Given the description of an element on the screen output the (x, y) to click on. 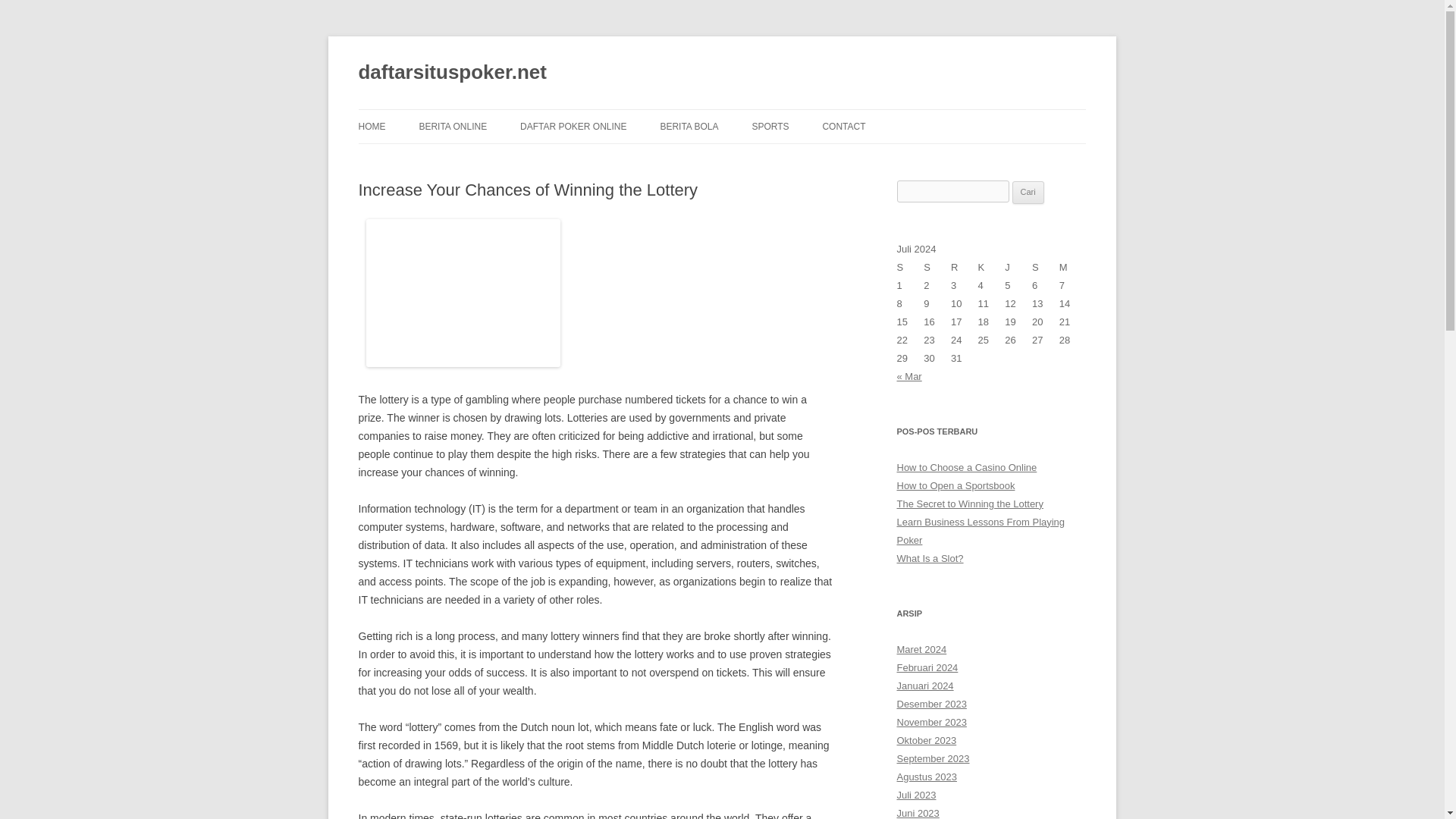
Cari (1027, 191)
Jumat (1018, 267)
Kamis (992, 267)
Desember 2023 (931, 704)
Juni 2023 (917, 813)
Cari (1027, 191)
How to Open a Sportsbook (955, 485)
Maret 2024 (921, 649)
Rabu (964, 267)
What Is a Slot? (929, 558)
November 2023 (931, 722)
Selasa (936, 267)
Februari 2024 (927, 667)
CONTACT (843, 126)
Agustus 2023 (926, 776)
